Given the description of an element on the screen output the (x, y) to click on. 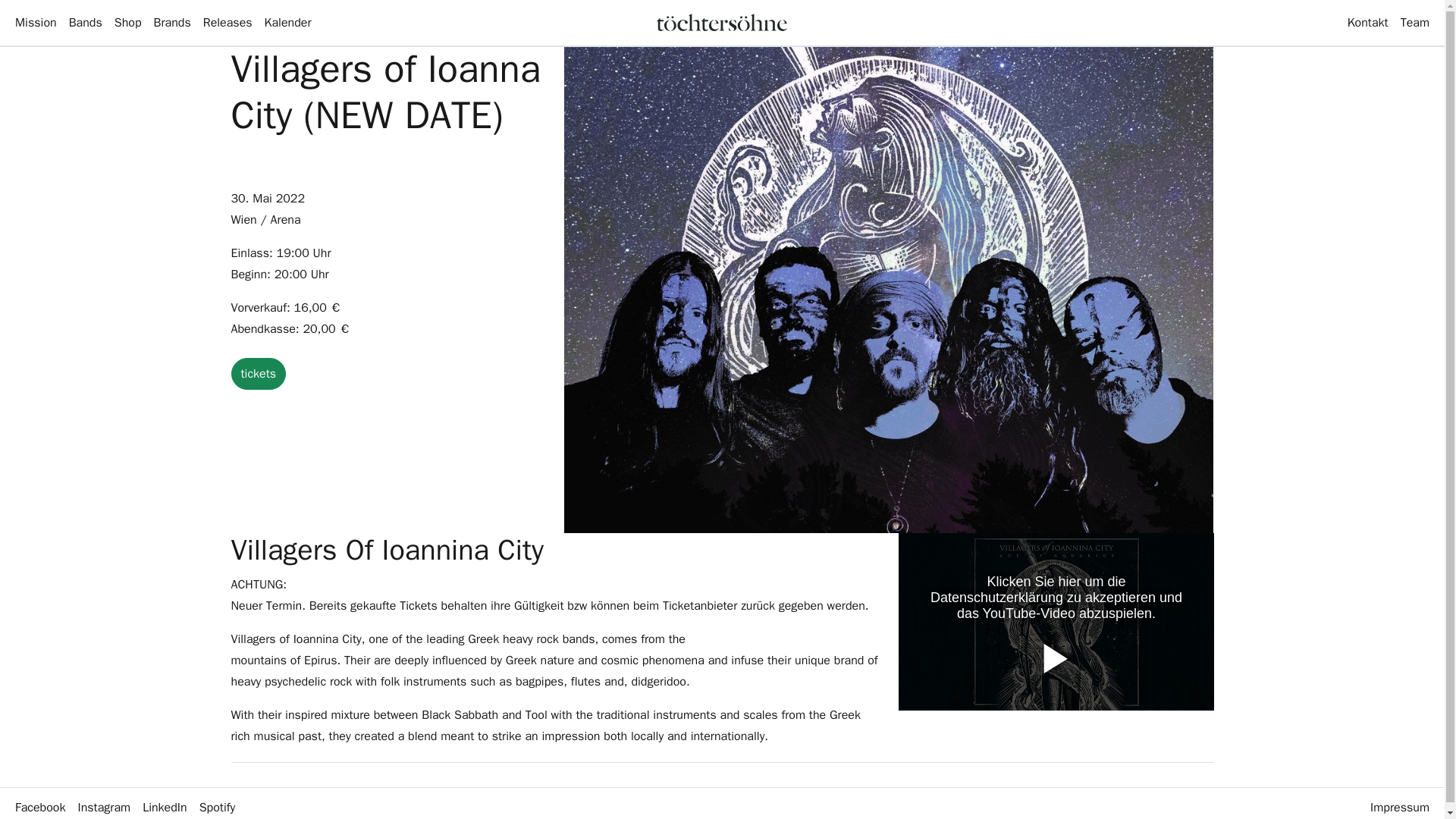
Team (1414, 22)
YouTube Video (1055, 621)
Kalender (288, 22)
tickets (257, 373)
Kontakt (1367, 22)
Mission (35, 22)
Bands (84, 22)
Shop (127, 22)
Releases (227, 22)
Brands (172, 22)
